Given the description of an element on the screen output the (x, y) to click on. 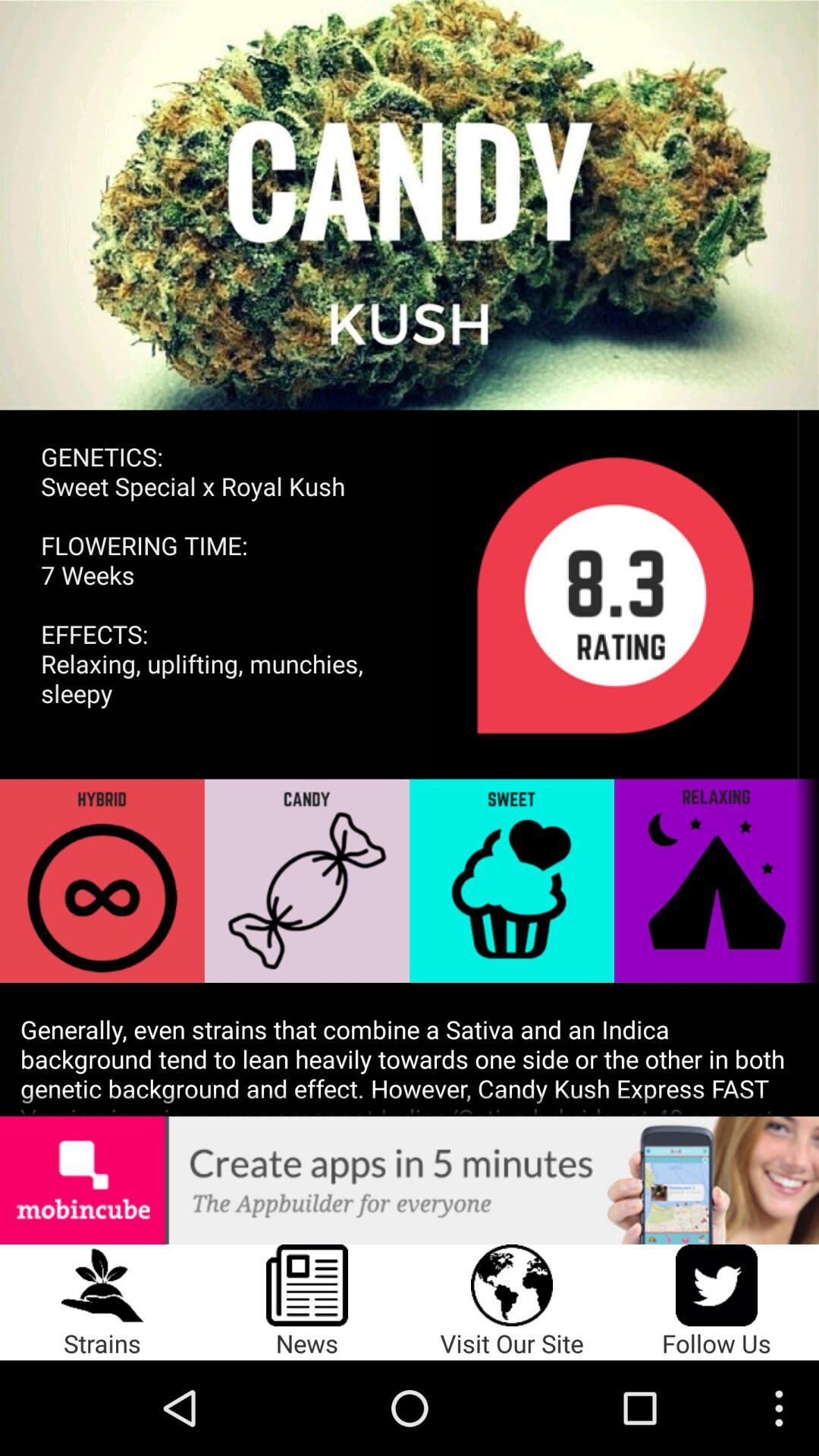
takes you to mobincube app building (409, 1180)
